Given the description of an element on the screen output the (x, y) to click on. 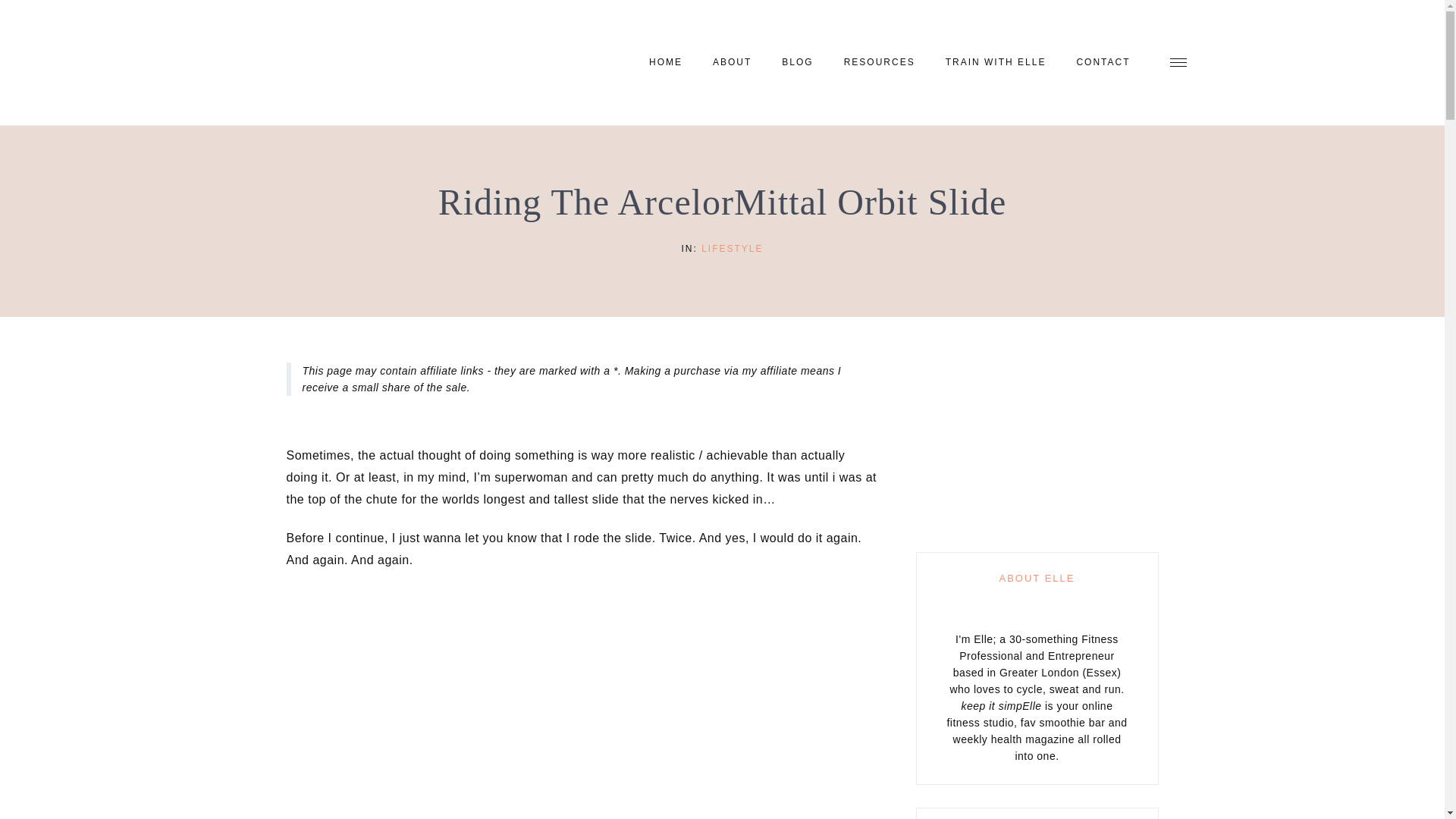
ABOUT (732, 61)
BLOG (797, 61)
HOME (665, 61)
KEEP IT SIMPELLE (357, 62)
